Given the description of an element on the screen output the (x, y) to click on. 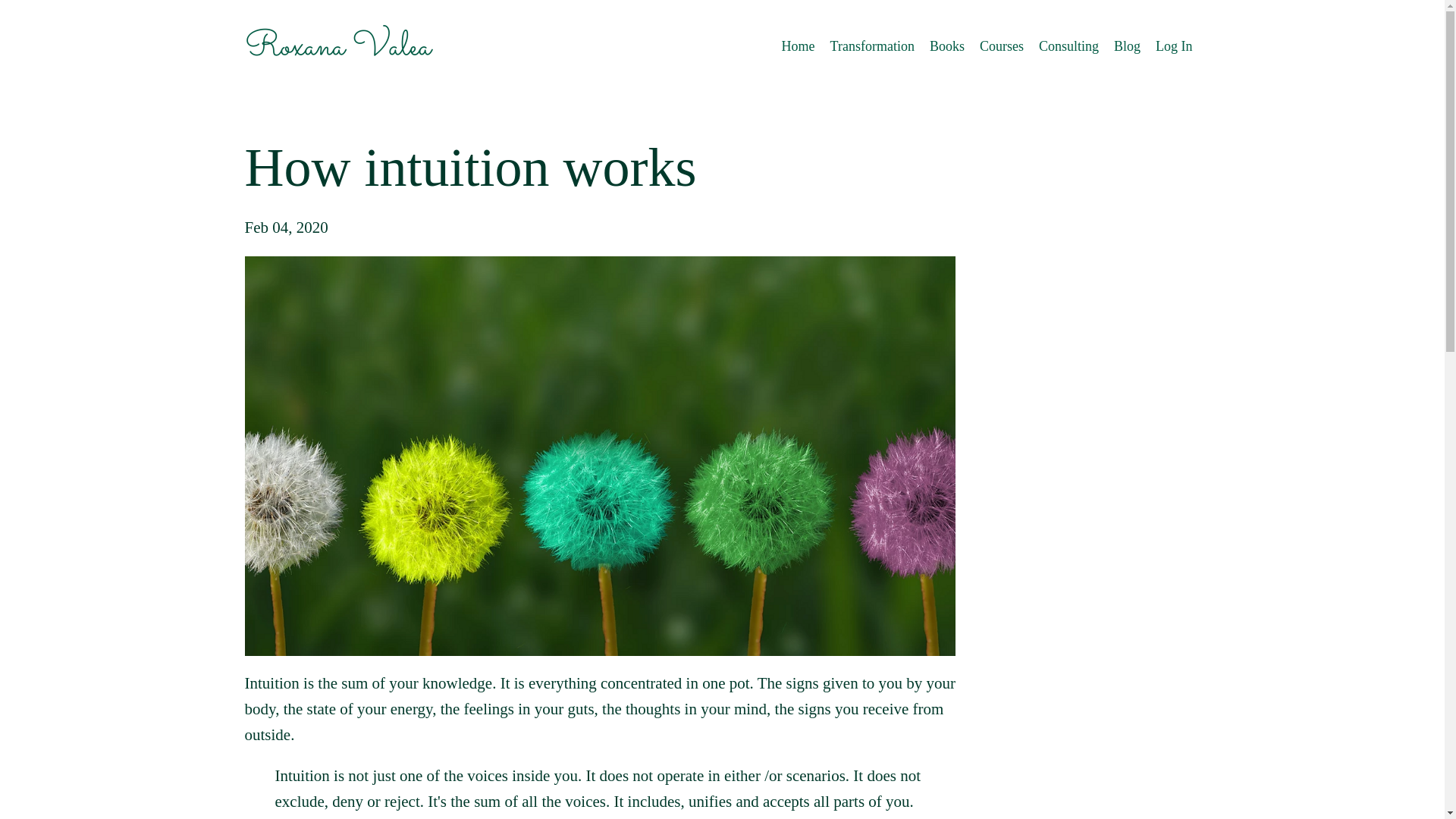
Books (946, 46)
Blog (1126, 46)
Home (798, 46)
Courses (1001, 46)
Consulting (1069, 46)
Transformation (871, 46)
Log In (1174, 46)
